Given the description of an element on the screen output the (x, y) to click on. 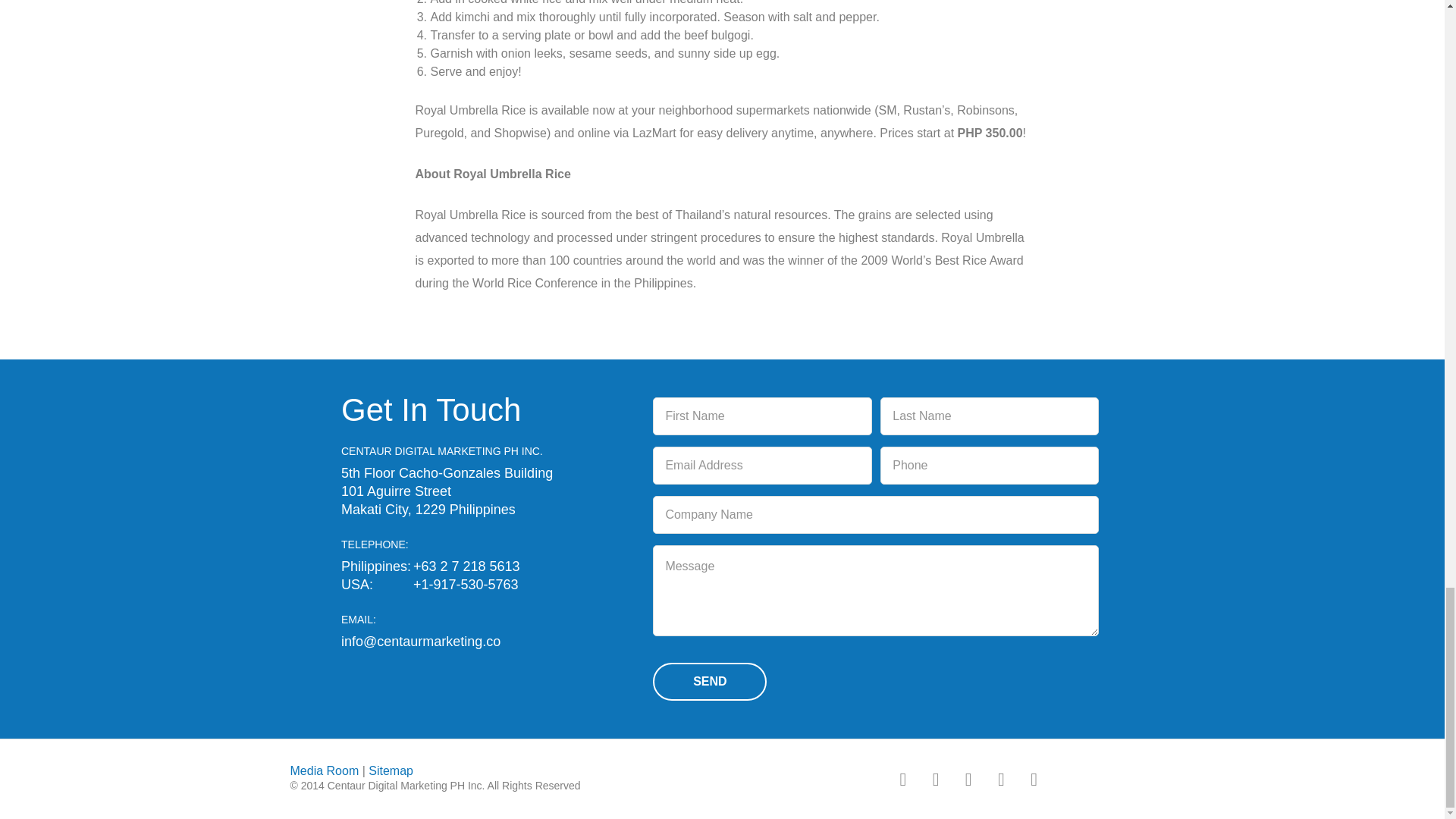
SEND (709, 681)
